Given the description of an element on the screen output the (x, y) to click on. 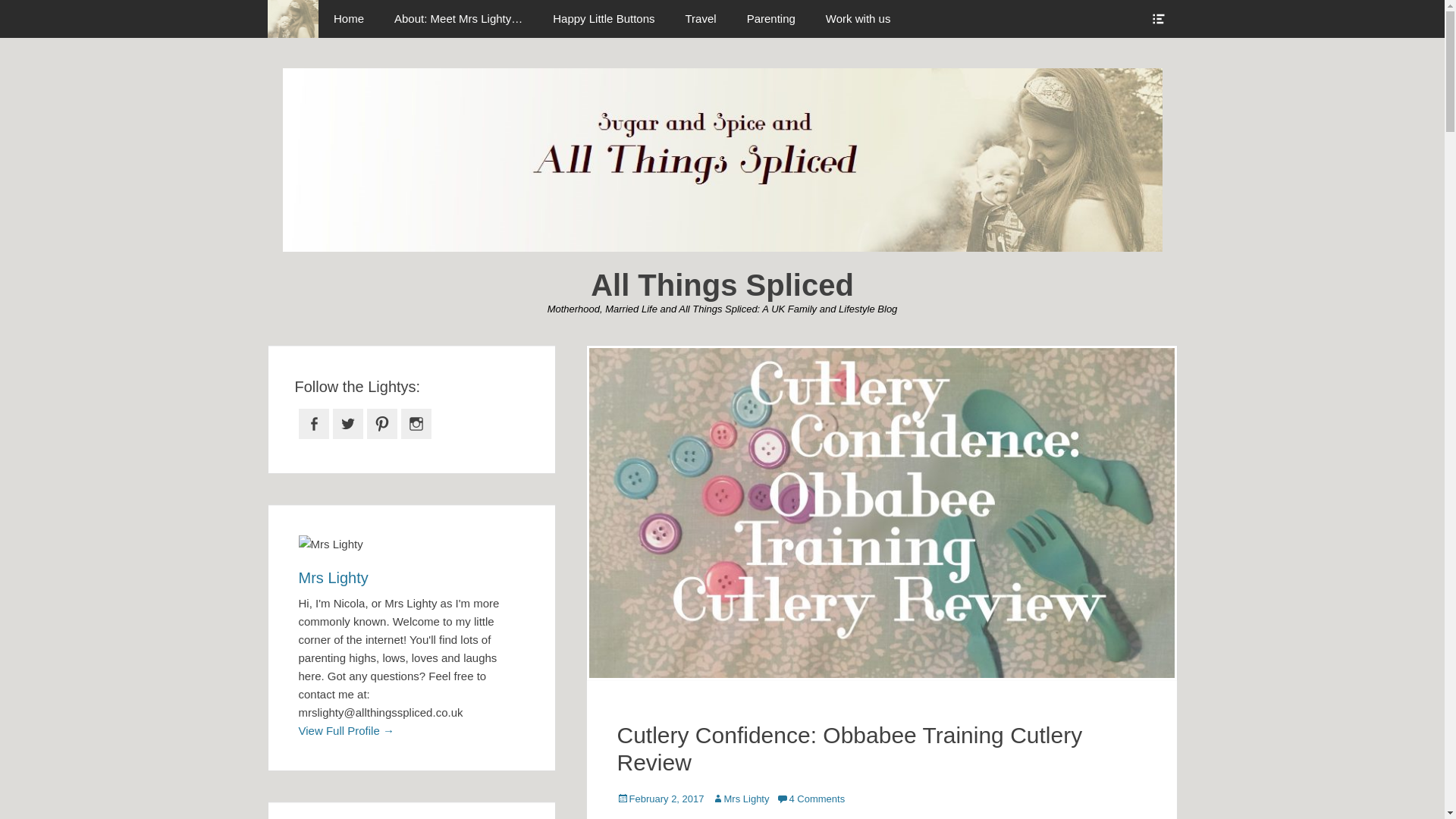
Mrs Lighty (740, 798)
All Things Spliced (722, 285)
Home (348, 18)
Show Header Sidebar Content (1157, 18)
Work with us (857, 18)
February 2, 2017 (660, 798)
Parenting (771, 18)
All Things Spliced (292, 18)
4 Comments (810, 798)
Travel (700, 18)
